Given the description of an element on the screen output the (x, y) to click on. 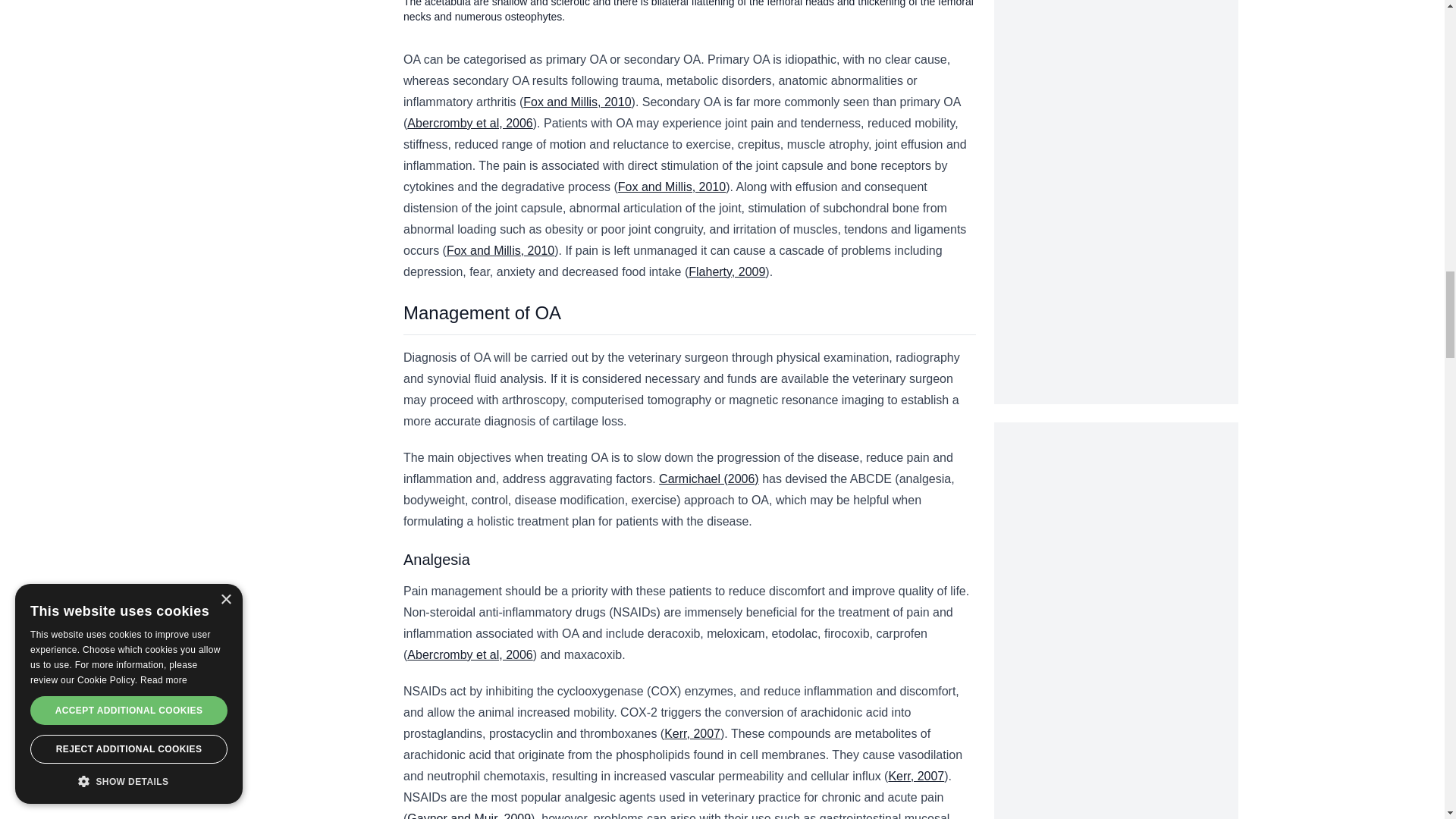
Fox and Millis, 2010 (576, 101)
Abercromby et al, 2006 (469, 123)
3rd party ad content (1116, 516)
